Given the description of an element on the screen output the (x, y) to click on. 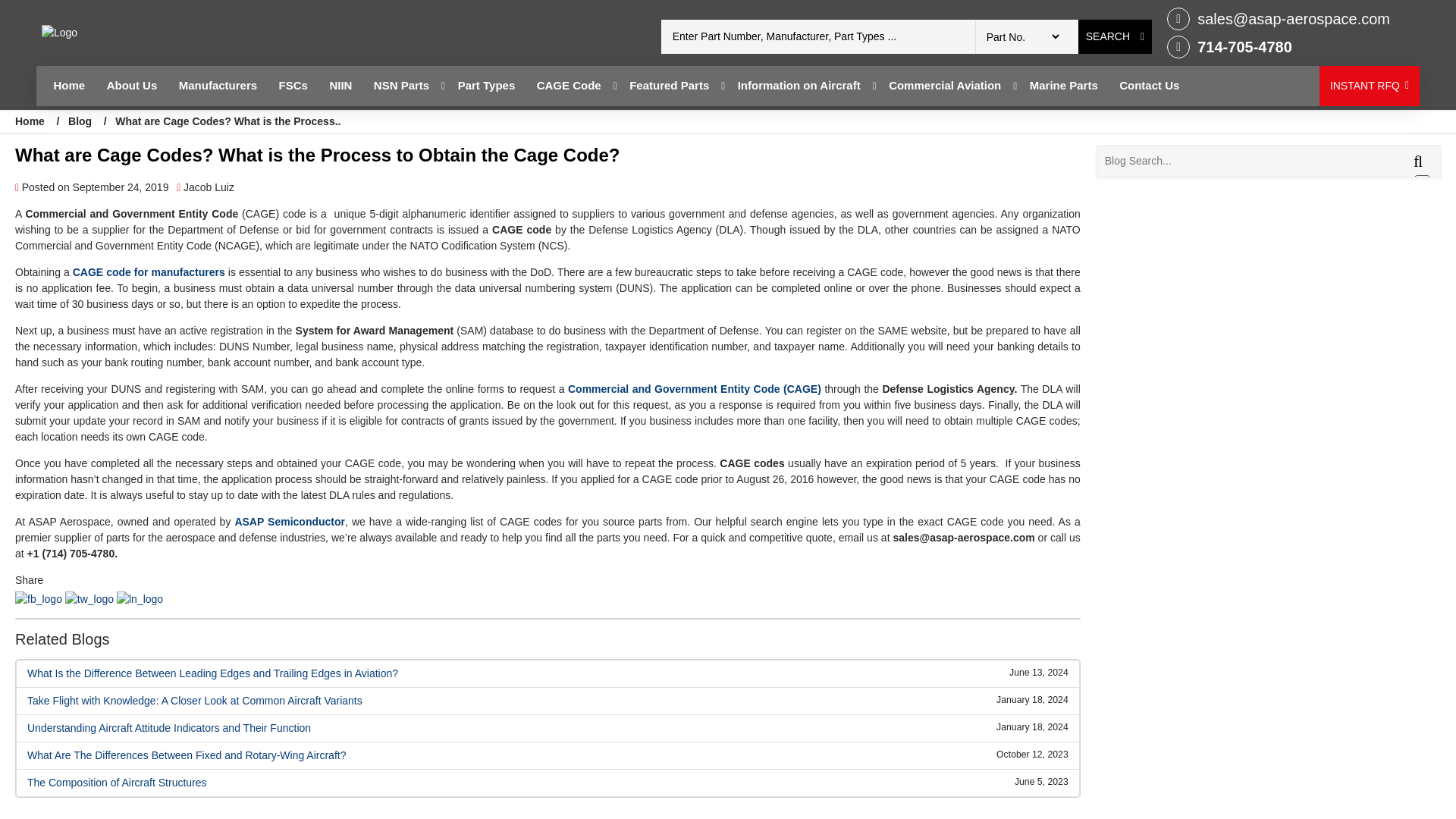
FSCs (293, 86)
Featured Parts (668, 86)
NIIN (340, 86)
CAGE Code (568, 86)
Commercial Aviation (944, 86)
NSN Parts (401, 86)
Part Types (486, 86)
Manufacturers (218, 86)
Home (68, 86)
About Us (132, 86)
714-705-4780 (1278, 47)
Information on Aircraft (799, 86)
SEARCH (1114, 36)
